Given the description of an element on the screen output the (x, y) to click on. 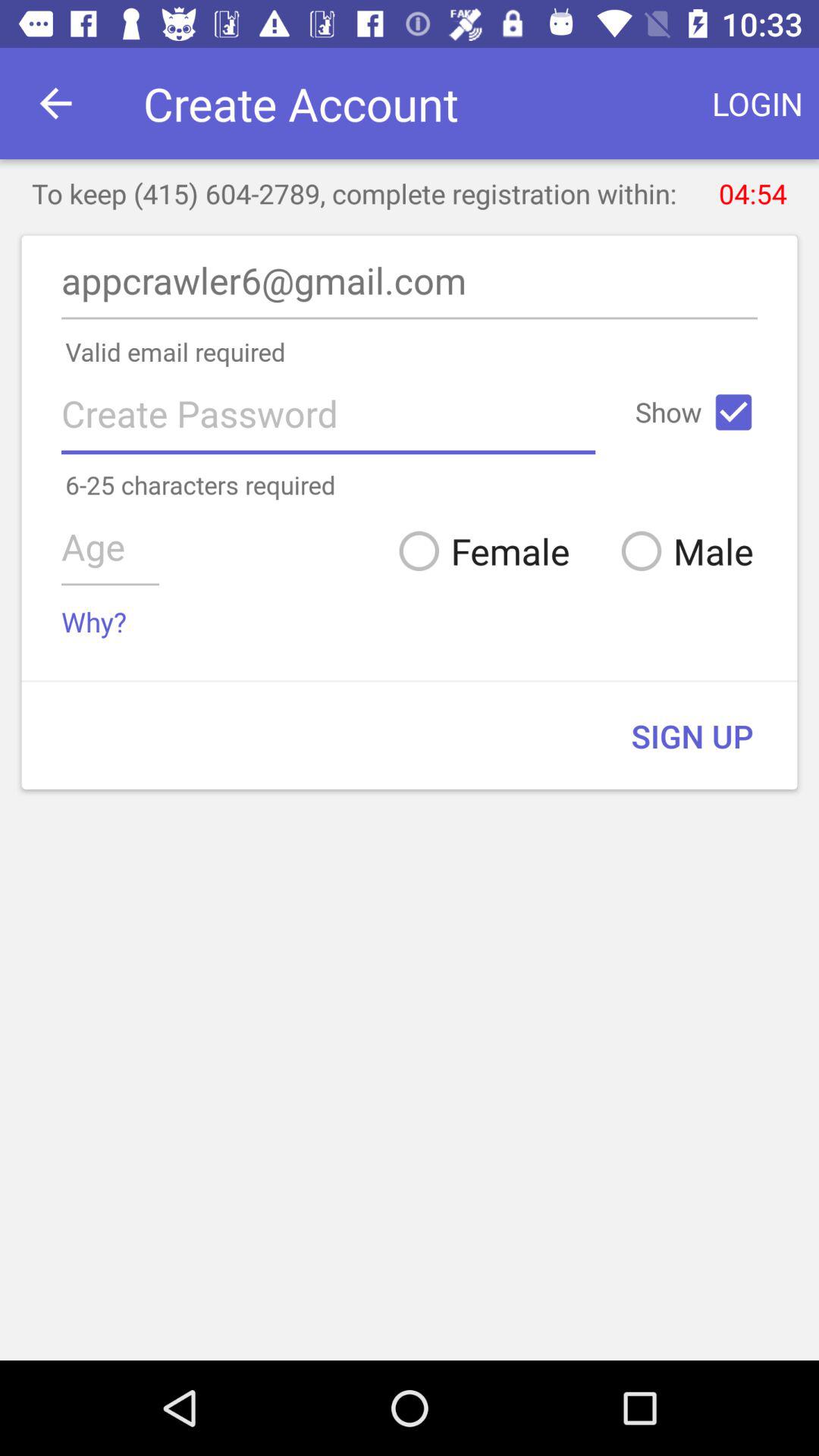
open item above to keep 415 (757, 103)
